Given the description of an element on the screen output the (x, y) to click on. 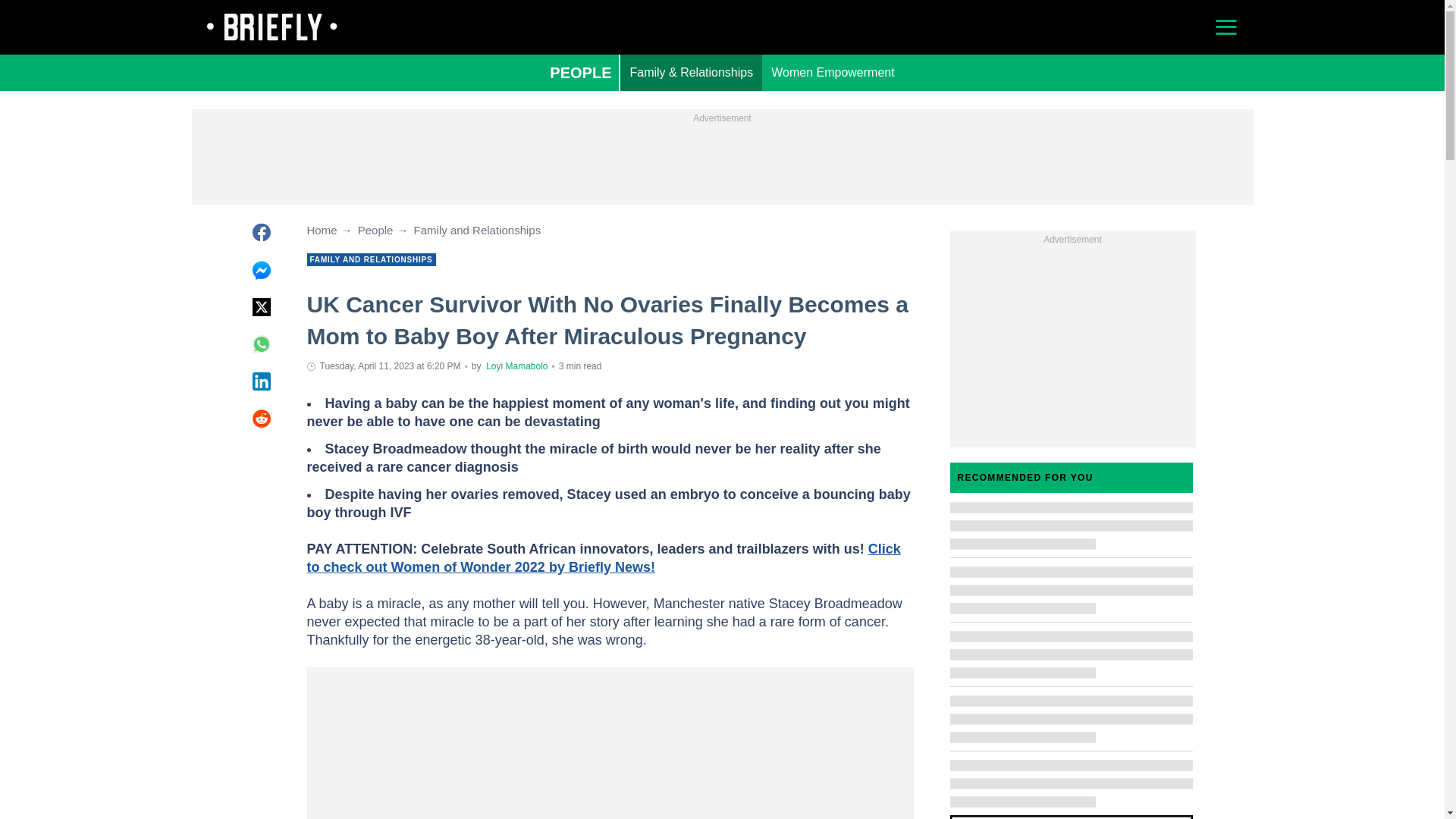
Author page (516, 366)
Women Empowerment (831, 72)
PEOPLE (580, 72)
